Given the description of an element on the screen output the (x, y) to click on. 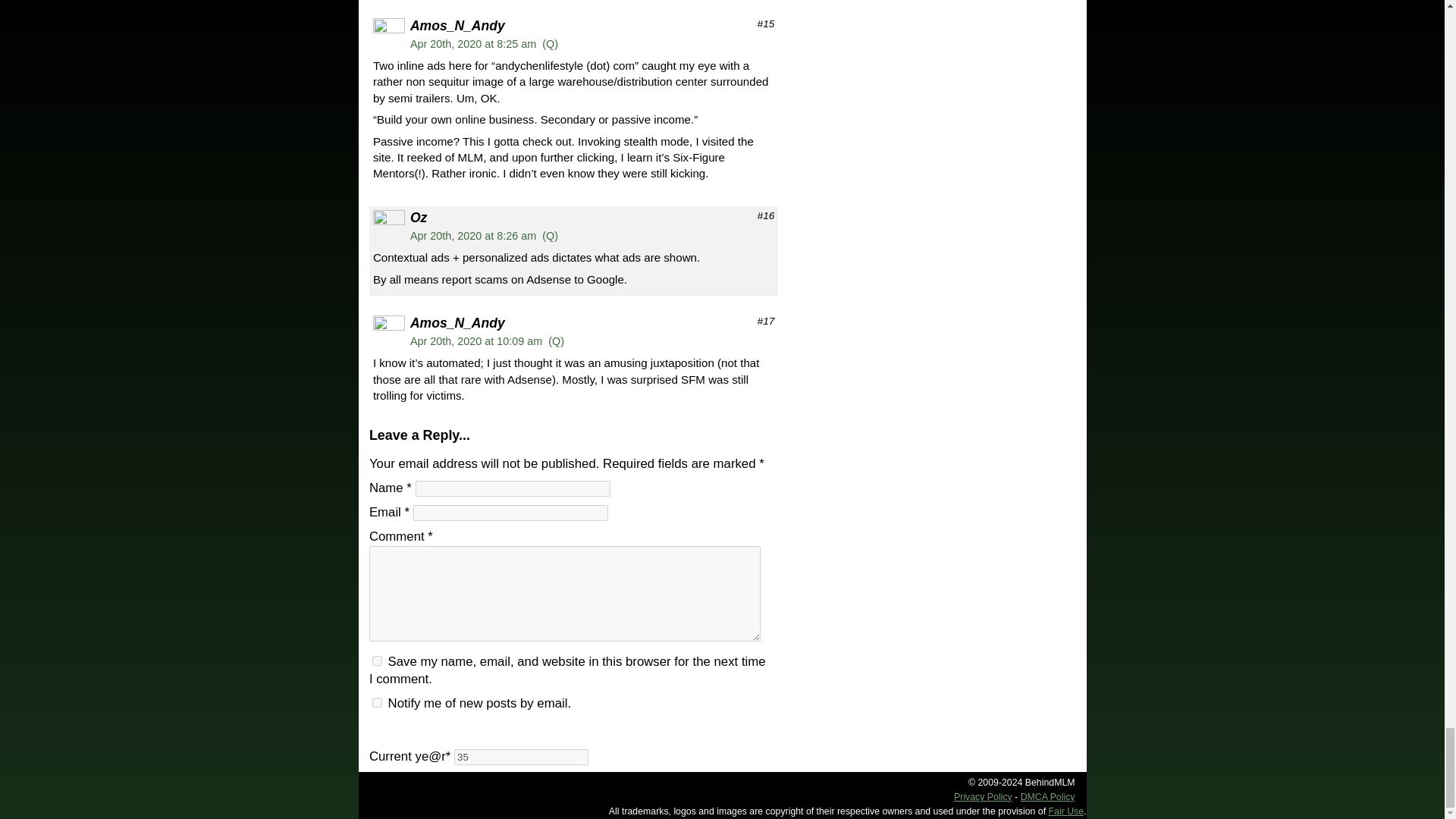
yes (376, 660)
subscribe (376, 702)
35 (521, 756)
